Given the description of an element on the screen output the (x, y) to click on. 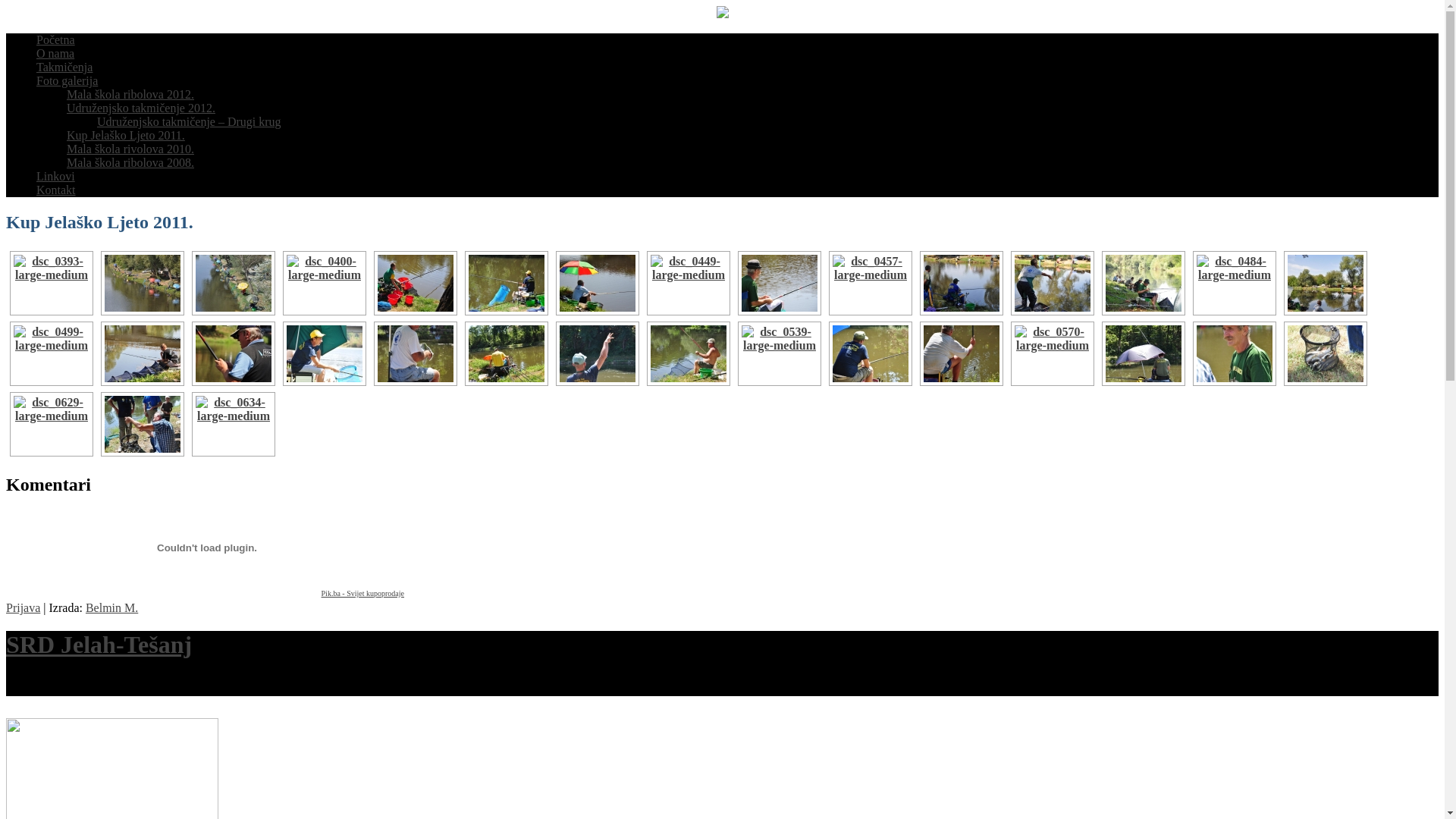
dsc_0539-large-medium Element type: hover (779, 353)
dsc_0483-large-medium Element type: hover (1143, 283)
  Element type: hover (686, 353)
  Element type: hover (595, 283)
dsc_0482-large-medium Element type: hover (1052, 283)
dsc_0450-large-medium Element type: hover (779, 283)
dsc_0537-large-medium Element type: hover (688, 353)
  Element type: hover (231, 353)
dsc_0495-large-medium Element type: hover (1325, 283)
  Element type: hover (777, 353)
  Element type: hover (1323, 283)
dsc_0463-large-medium Element type: hover (961, 283)
  Element type: hover (231, 283)
dsc_0570-large-medium Element type: hover (1052, 353)
  Element type: hover (1050, 283)
dsc_0574-large-medium Element type: hover (1143, 353)
  Element type: hover (140, 424)
  Element type: hover (868, 283)
  Element type: hover (595, 353)
dsc_0528-large-medium Element type: hover (597, 353)
  Element type: hover (959, 283)
dsc_0517-large-medium Element type: hover (324, 353)
  Element type: hover (959, 353)
  Element type: hover (322, 283)
  Element type: hover (868, 353)
  Element type: hover (140, 353)
dsc_0395-large-medium Element type: hover (142, 283)
  Element type: hover (1141, 283)
  Element type: hover (504, 353)
dsc_0502-large-medium Element type: hover (233, 353)
dsc_0393-large-medium Element type: hover (51, 283)
dsc_0623-large-medium Element type: hover (1325, 353)
dsc_0499-large-medium Element type: hover (51, 353)
dsc_0548-large-medium Element type: hover (961, 353)
  Element type: hover (231, 424)
dsc_0406-large-medium Element type: hover (415, 283)
dsc_0484-large-medium Element type: hover (1234, 283)
dsc_0411-large-medium Element type: hover (506, 283)
O nama Element type: text (55, 53)
dsc_0457-large-medium Element type: hover (870, 283)
  Element type: hover (49, 424)
  Element type: hover (777, 283)
  Element type: hover (504, 283)
Linkovi Element type: text (55, 175)
  Element type: hover (49, 353)
  Element type: hover (1050, 353)
dsc_0449-large-medium Element type: hover (688, 283)
  Element type: hover (1323, 353)
dsc_0400-large-medium Element type: hover (324, 283)
dsc_0632-large-medium Element type: hover (142, 424)
Belmin M. Element type: text (111, 607)
  Element type: hover (413, 353)
Kontakt Element type: text (55, 189)
Foto galerija Element type: text (66, 80)
dsc_0446-large-medium Element type: hover (597, 283)
Pik.ba - Svijet kupoprodaje Element type: text (362, 593)
Prijava Element type: text (23, 607)
dsc_0398-large-medium Element type: hover (233, 283)
  Element type: hover (49, 283)
dsc_0604-large-medium Element type: hover (1234, 353)
dsc_0634-large-medium Element type: hover (233, 424)
dsc_0523-large-medium Element type: hover (506, 353)
dsc_0543-large-medium Element type: hover (870, 353)
  Element type: hover (686, 283)
dsc_0522-large-medium Element type: hover (415, 353)
  Element type: hover (1232, 353)
  Element type: hover (322, 353)
  Element type: hover (140, 283)
  Element type: hover (413, 283)
dsc_0501-large-medium Element type: hover (142, 353)
  Element type: hover (1232, 283)
  Element type: hover (1141, 353)
dsc_0629-large-medium Element type: hover (51, 424)
